Given the description of an element on the screen output the (x, y) to click on. 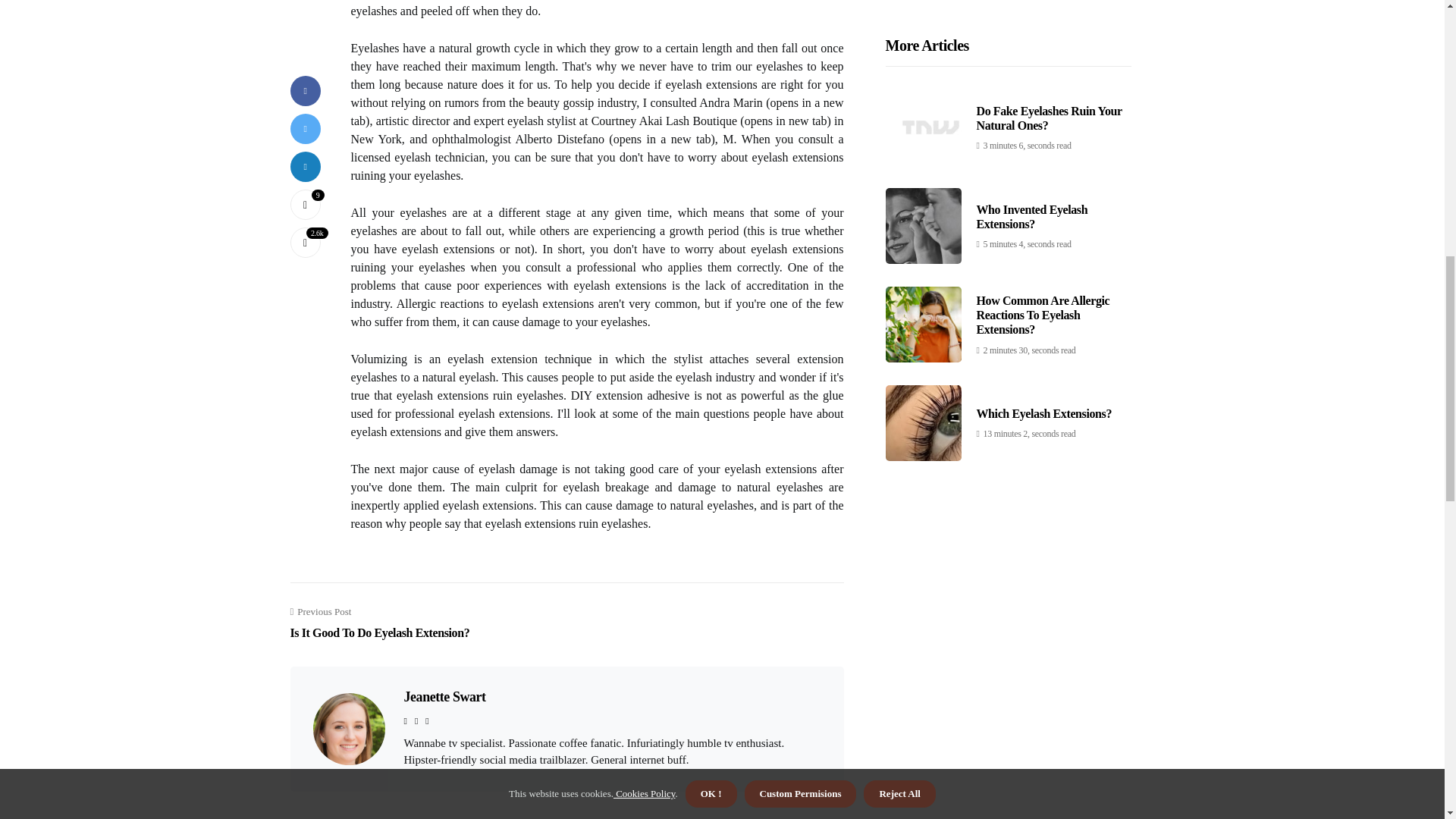
How Common Are Allergic Reactions To Eyelash Extensions? (378, 623)
Jeanette Swart (1042, 42)
Which Eyelash Extensions? (443, 696)
